Given the description of an element on the screen output the (x, y) to click on. 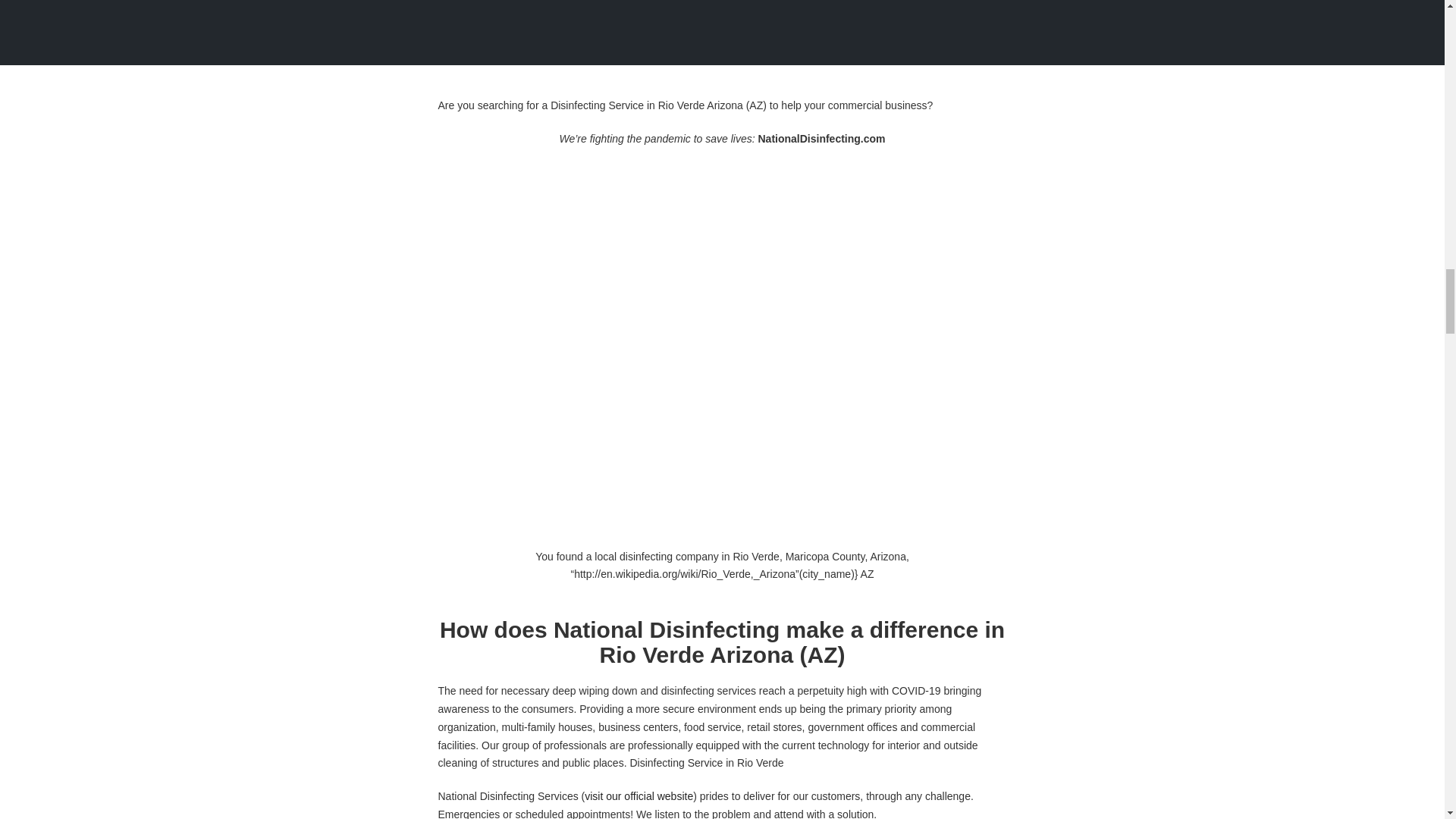
visit our official website (1391, 711)
